Given the description of an element on the screen output the (x, y) to click on. 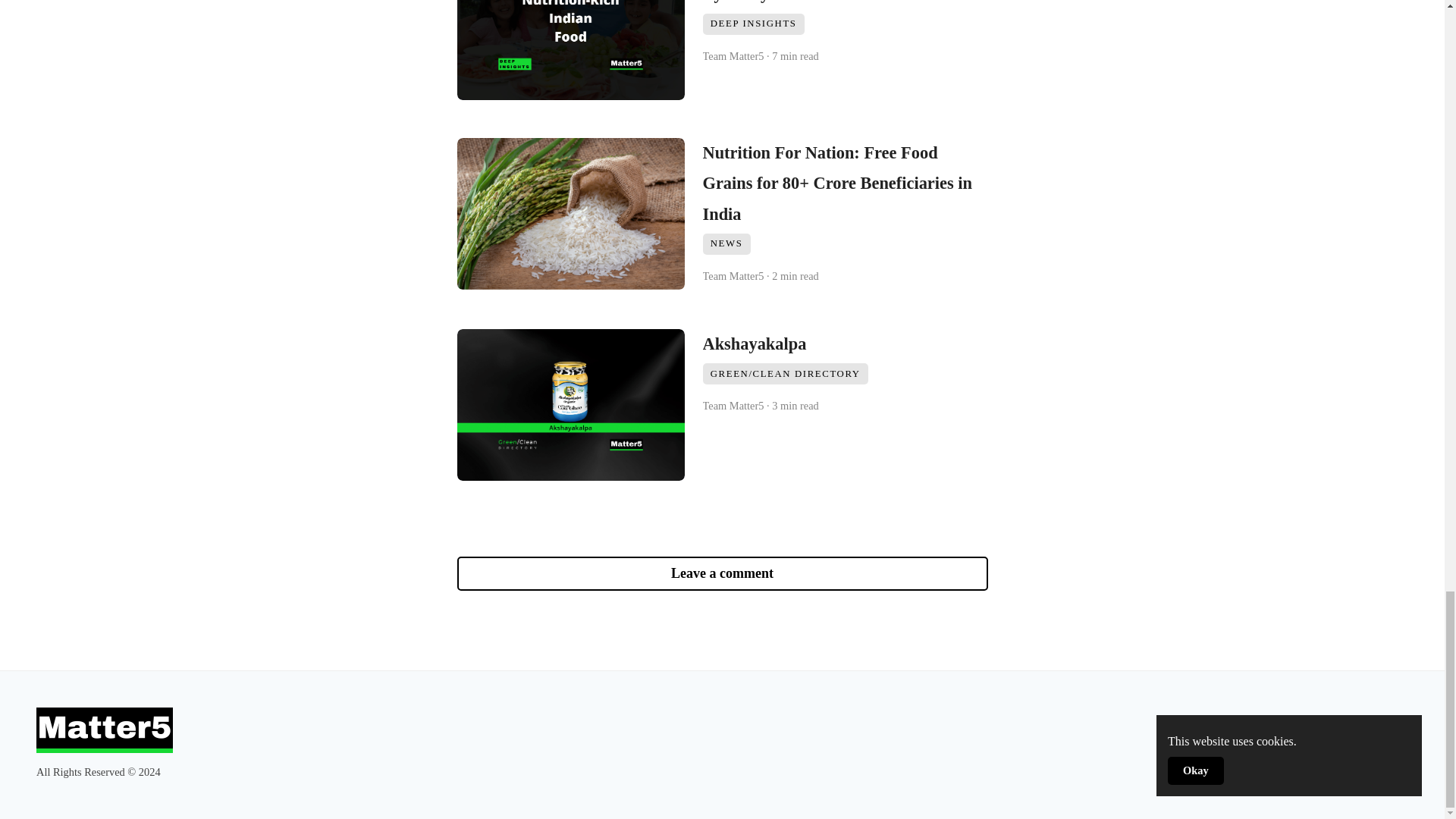
Leave a comment (722, 573)
Trending Article (1293, 718)
